Given the description of an element on the screen output the (x, y) to click on. 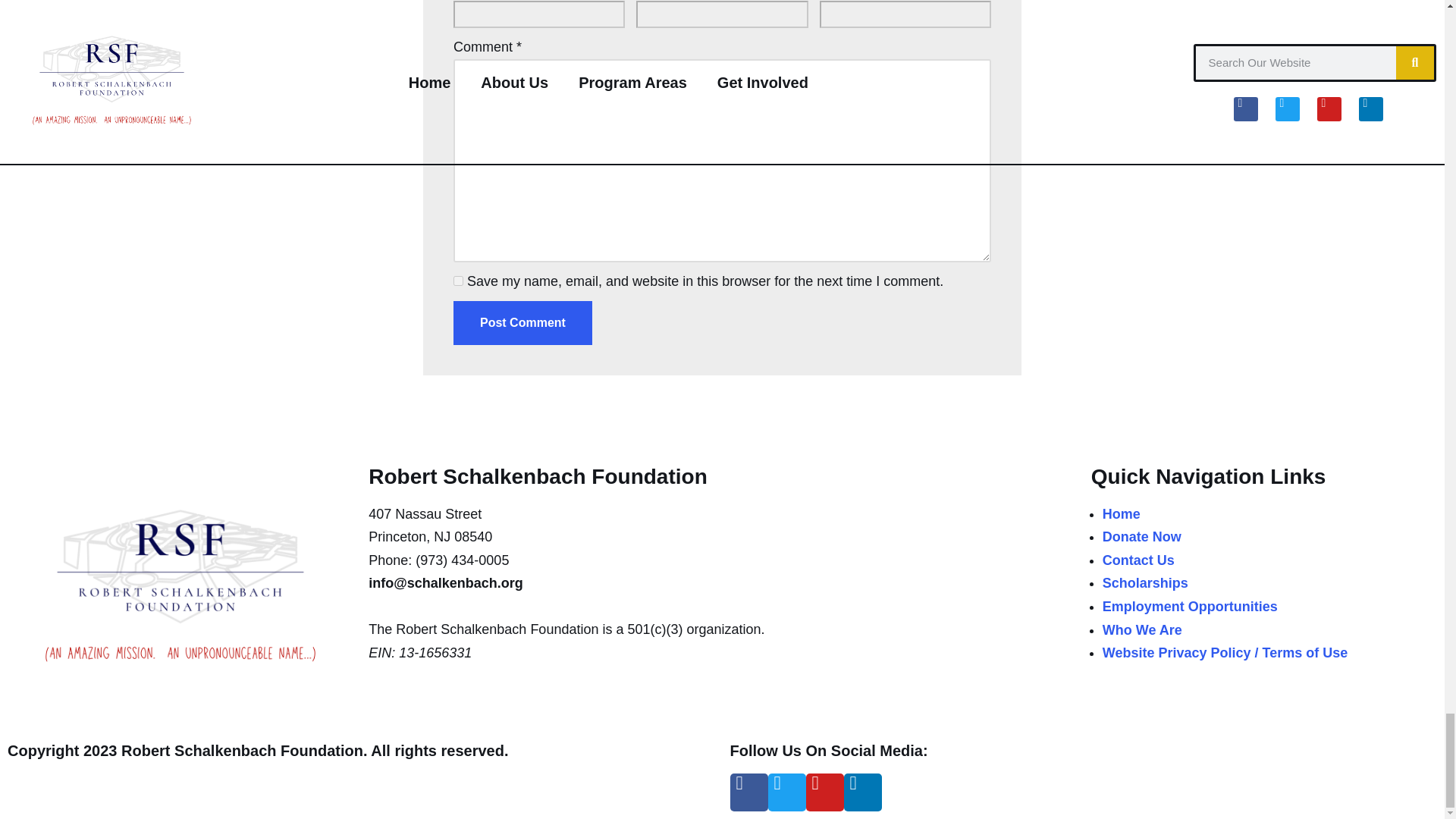
Post Comment (522, 322)
yes (457, 280)
